Given the description of an element on the screen output the (x, y) to click on. 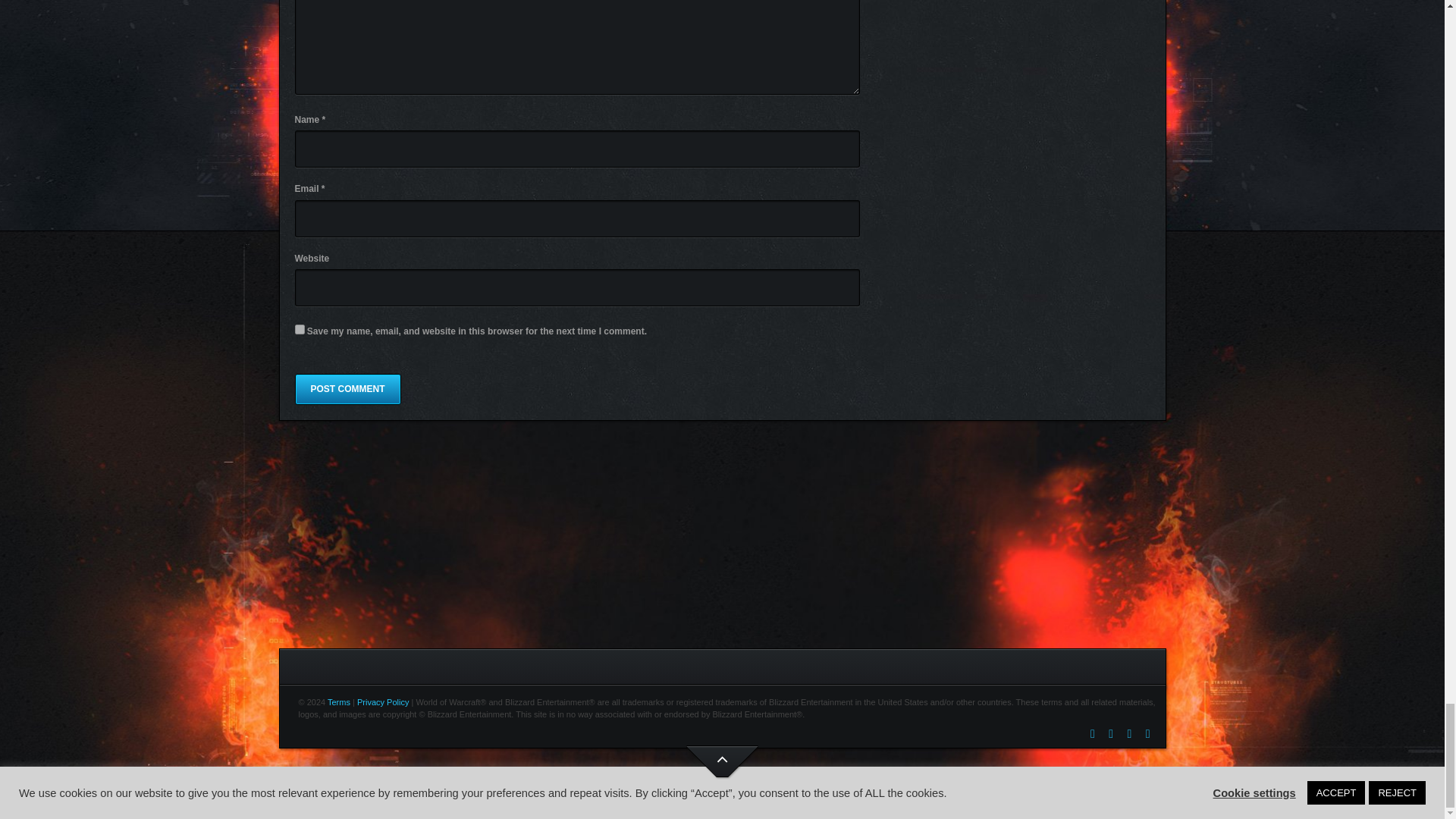
Privacy Policy (382, 701)
Post Comment (347, 388)
Terms (338, 701)
yes (299, 329)
